Given the description of an element on the screen output the (x, y) to click on. 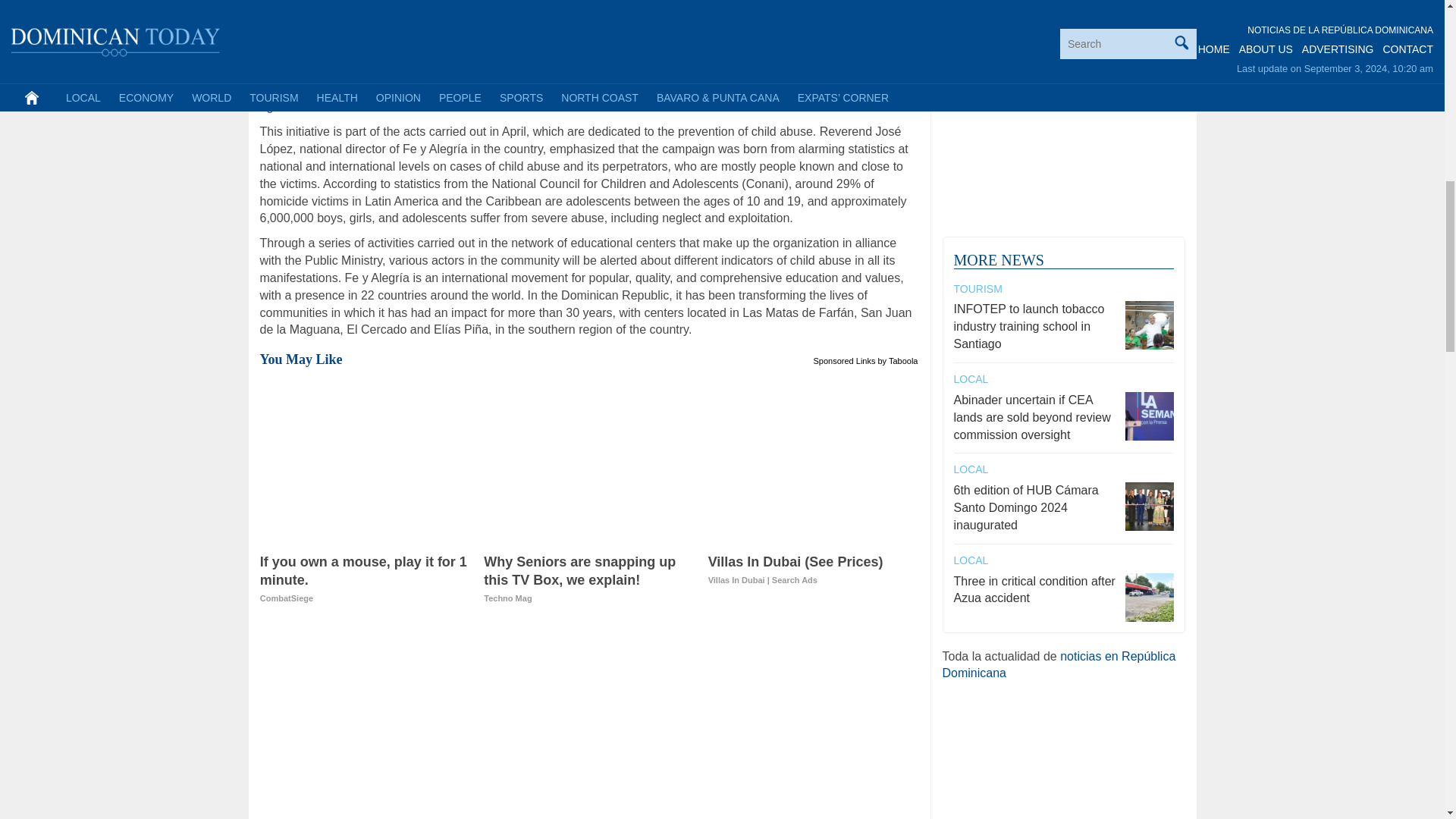
Why Seniors are snapping up this TV Box, we explain! (588, 579)
Advertisement (588, 722)
by Taboola (897, 359)
Sponsored Links (365, 579)
If you own a mouse, play it for 1 minute. (844, 359)
